Given the description of an element on the screen output the (x, y) to click on. 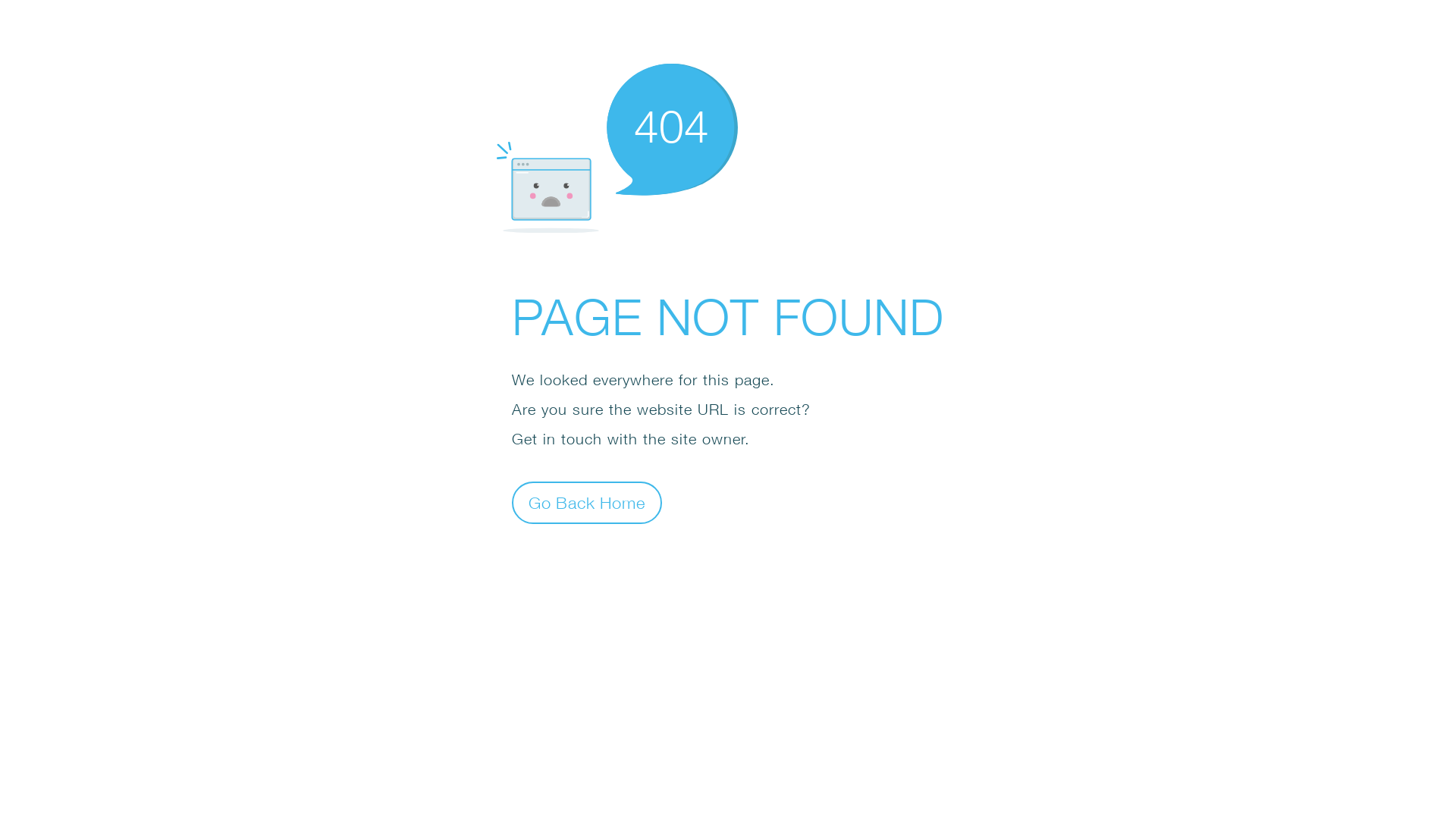
Go Back Home Element type: text (586, 502)
